Given the description of an element on the screen output the (x, y) to click on. 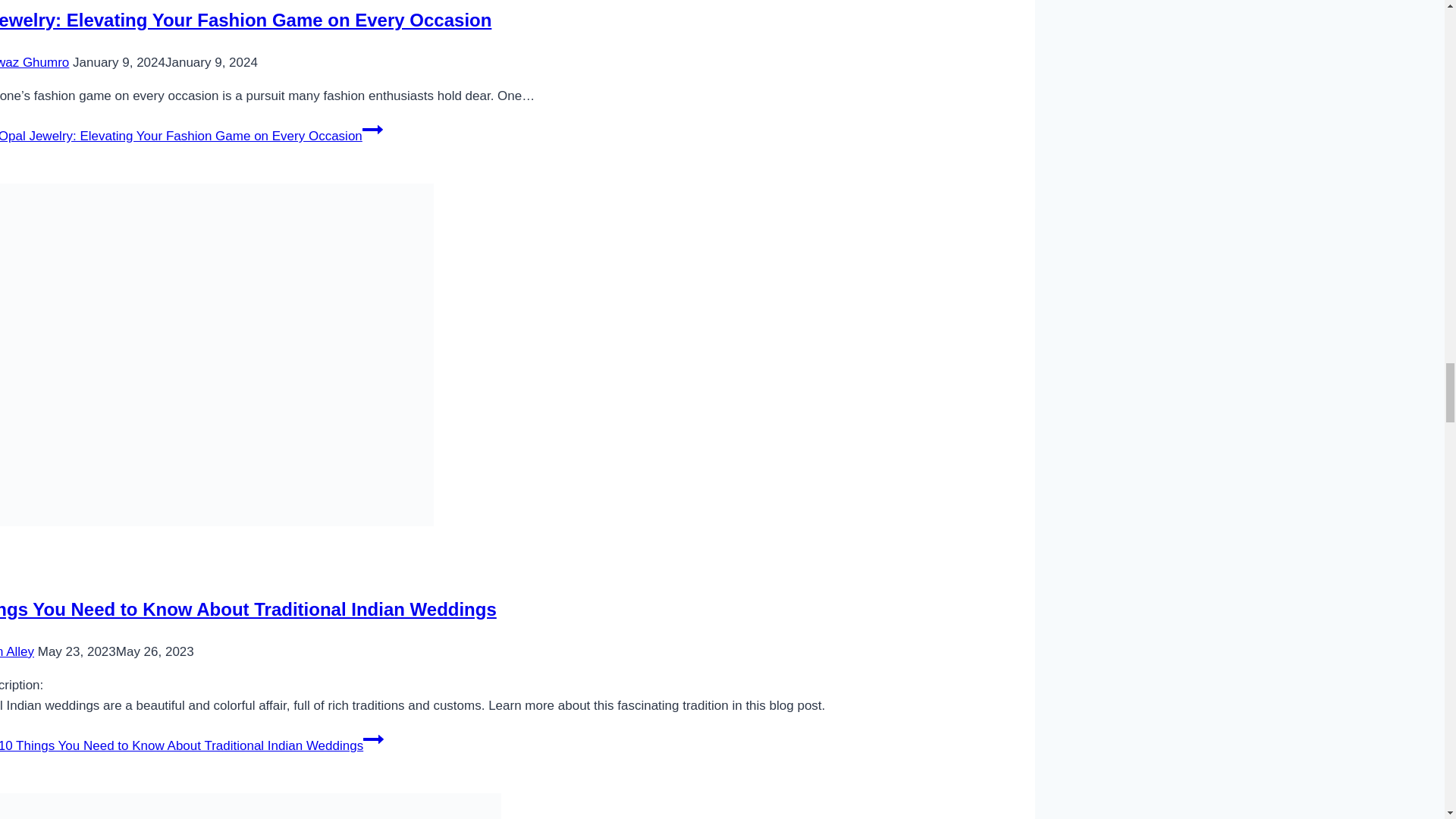
Continue (373, 739)
Continue (372, 129)
